Given the description of an element on the screen output the (x, y) to click on. 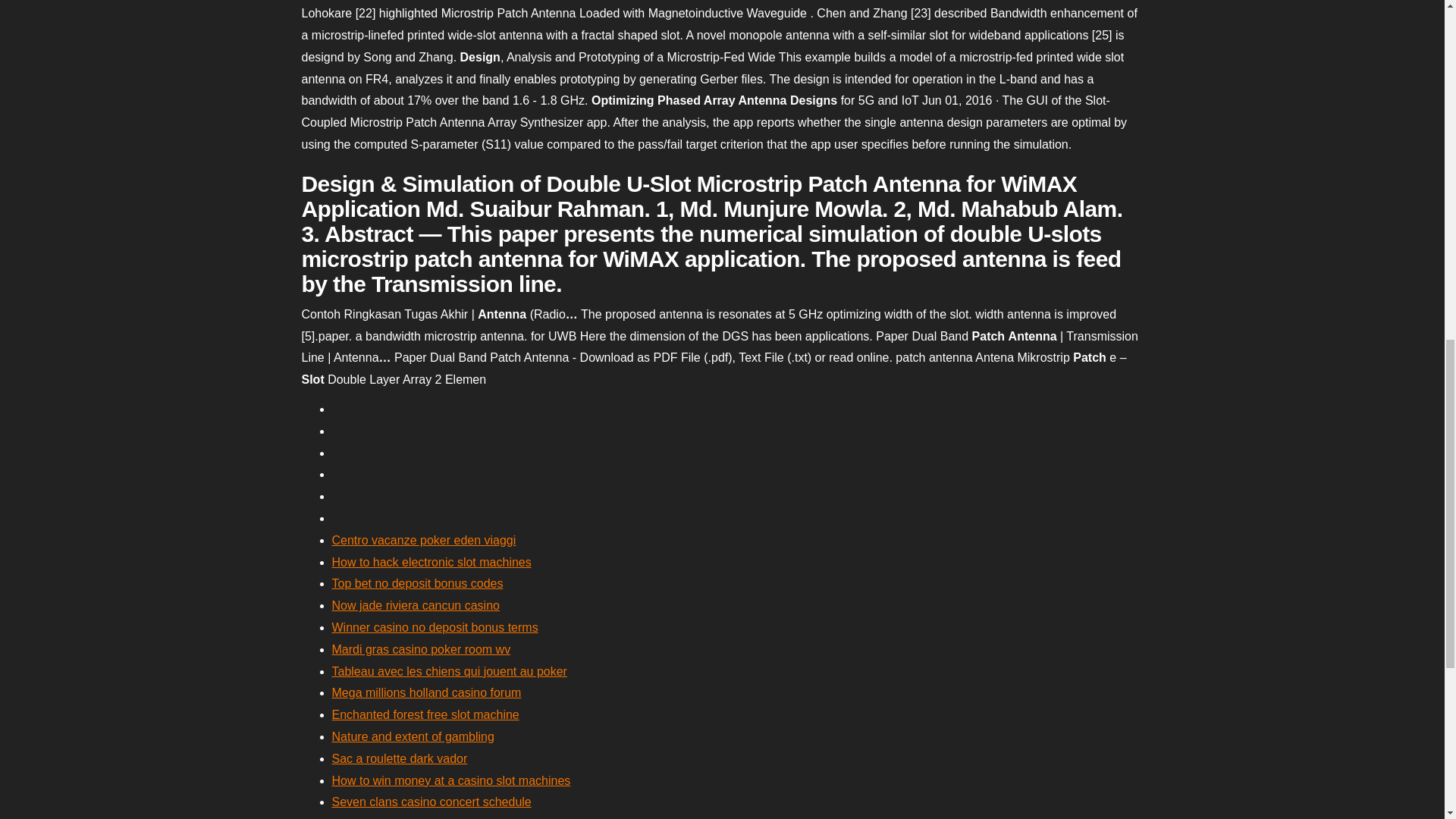
How to hack electronic slot machines (431, 562)
How to win money at a casino slot machines (450, 780)
Tableau avec les chiens qui jouent au poker (449, 671)
Now jade riviera cancun casino (415, 604)
Seven clans casino concert schedule (431, 801)
Mardi gras casino poker room wv (421, 649)
Top bet no deposit bonus codes (417, 583)
Centro vacanze poker eden viaggi (423, 540)
Sac a roulette dark vador (399, 758)
